Given the description of an element on the screen output the (x, y) to click on. 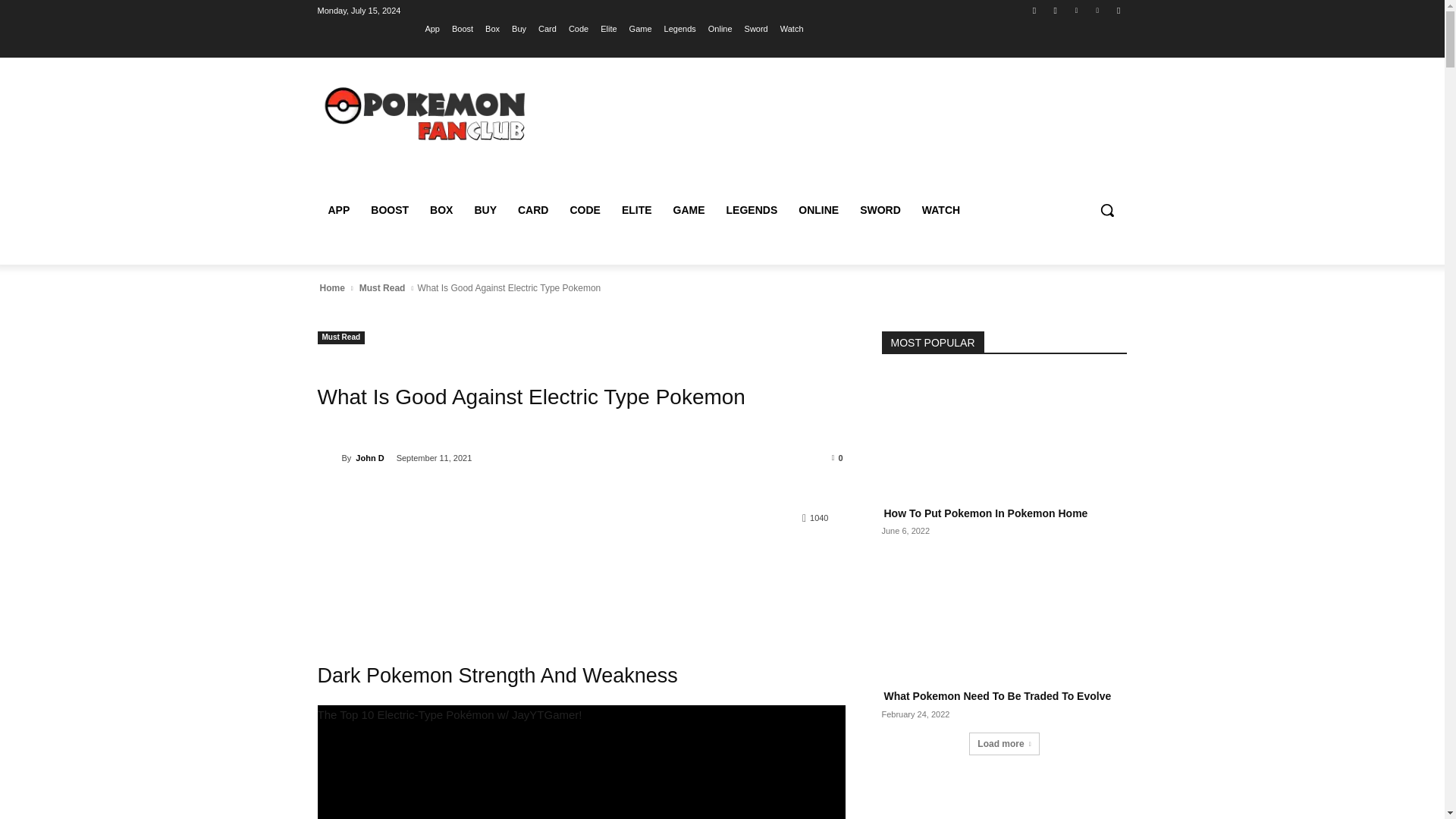
John D (328, 458)
Watch (791, 28)
Pokemon Fan Club (426, 113)
Facebook (1034, 9)
Vimeo (1097, 9)
Boost (462, 28)
Instagram (1055, 9)
Youtube (1117, 9)
Legends (679, 28)
Game (640, 28)
Twitter (1075, 9)
View all posts in Must Read (381, 287)
Online (719, 28)
Sword (756, 28)
Code (578, 28)
